Given the description of an element on the screen output the (x, y) to click on. 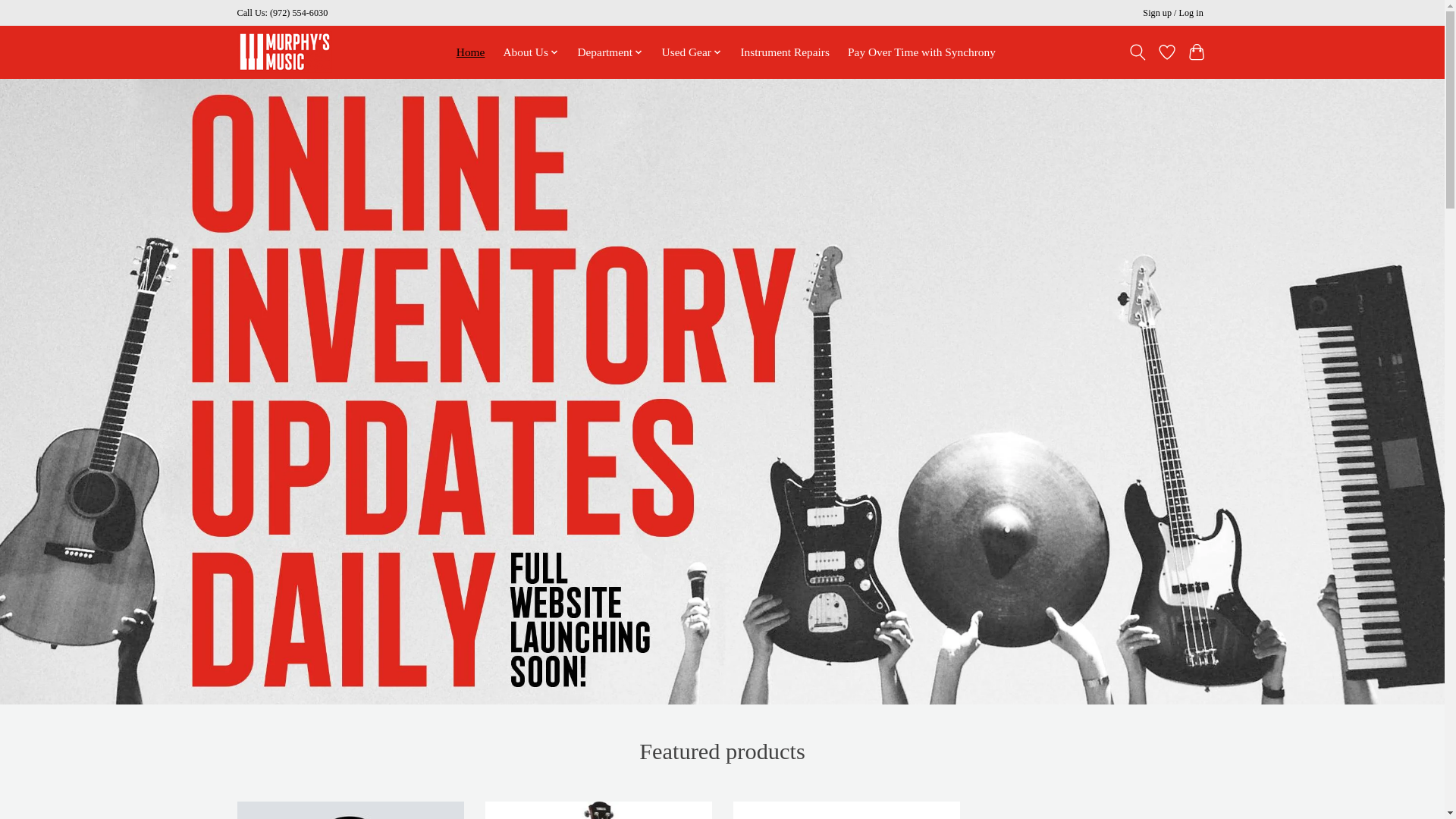
Murphy's Music (283, 51)
Department (610, 52)
Home (470, 52)
Yamaha Yamaha PSR SX600 61-key Arranger Workstation (845, 810)
About Us (530, 52)
My account (1173, 13)
